Given the description of an element on the screen output the (x, y) to click on. 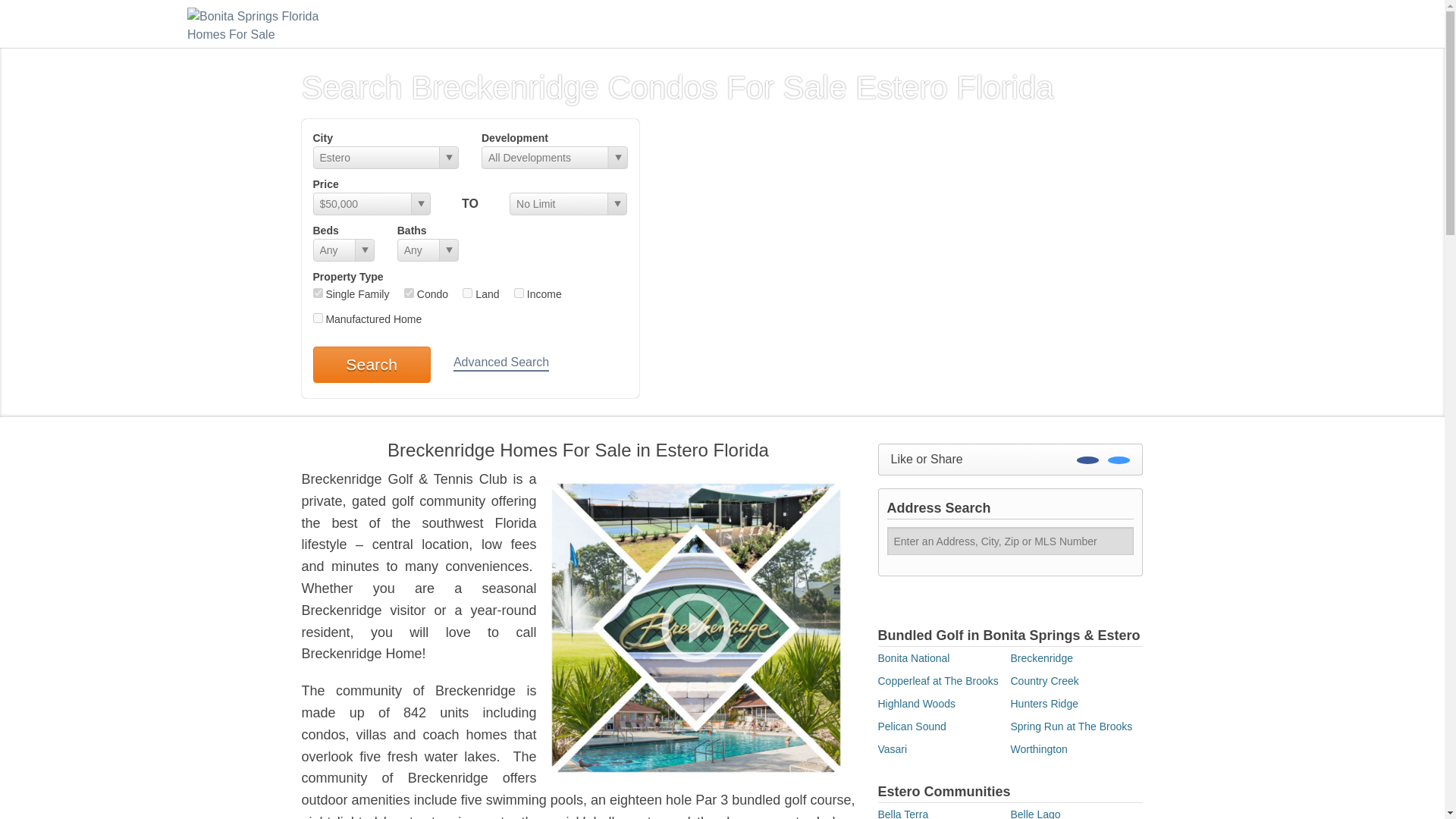
mul (518, 293)
Bonita Springs Florida Homes For Sale (263, 23)
man (317, 317)
Search (371, 364)
Advanced Search (500, 363)
lnd (467, 293)
res (317, 293)
con (408, 293)
Search (371, 364)
